Given the description of an element on the screen output the (x, y) to click on. 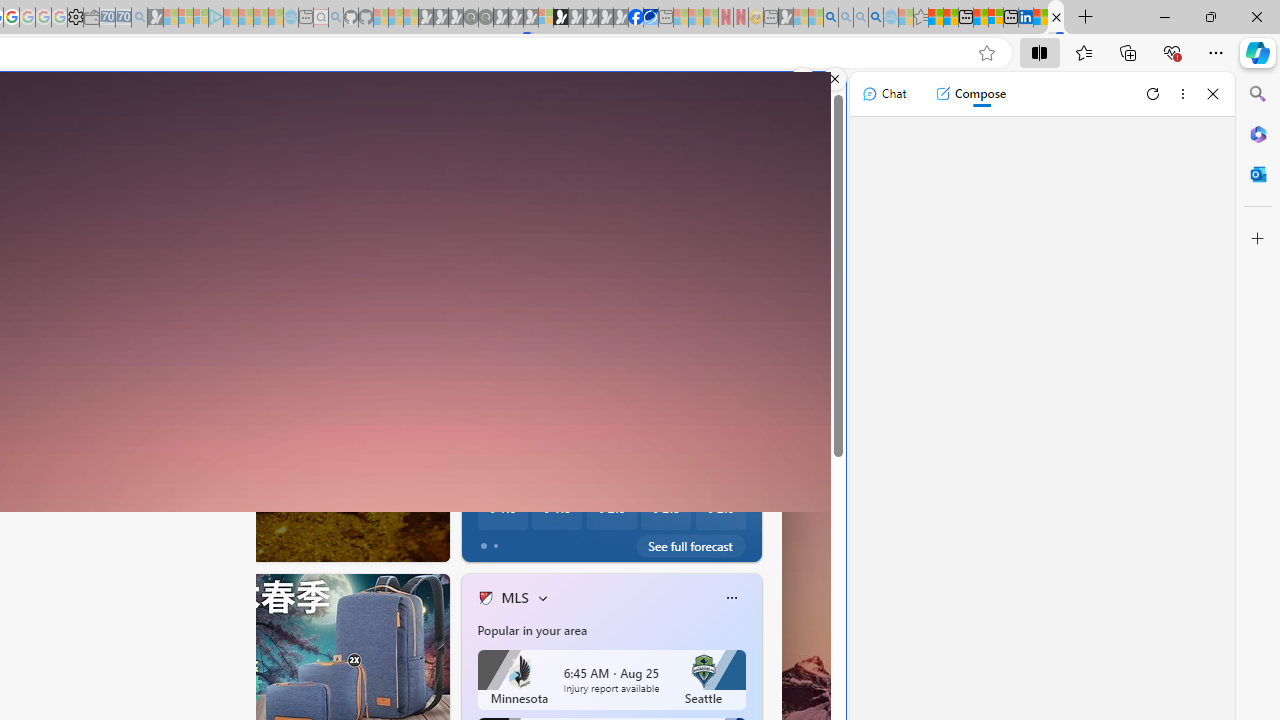
Partly sunny (499, 333)
Close split screen. (835, 79)
